Given the description of an element on the screen output the (x, y) to click on. 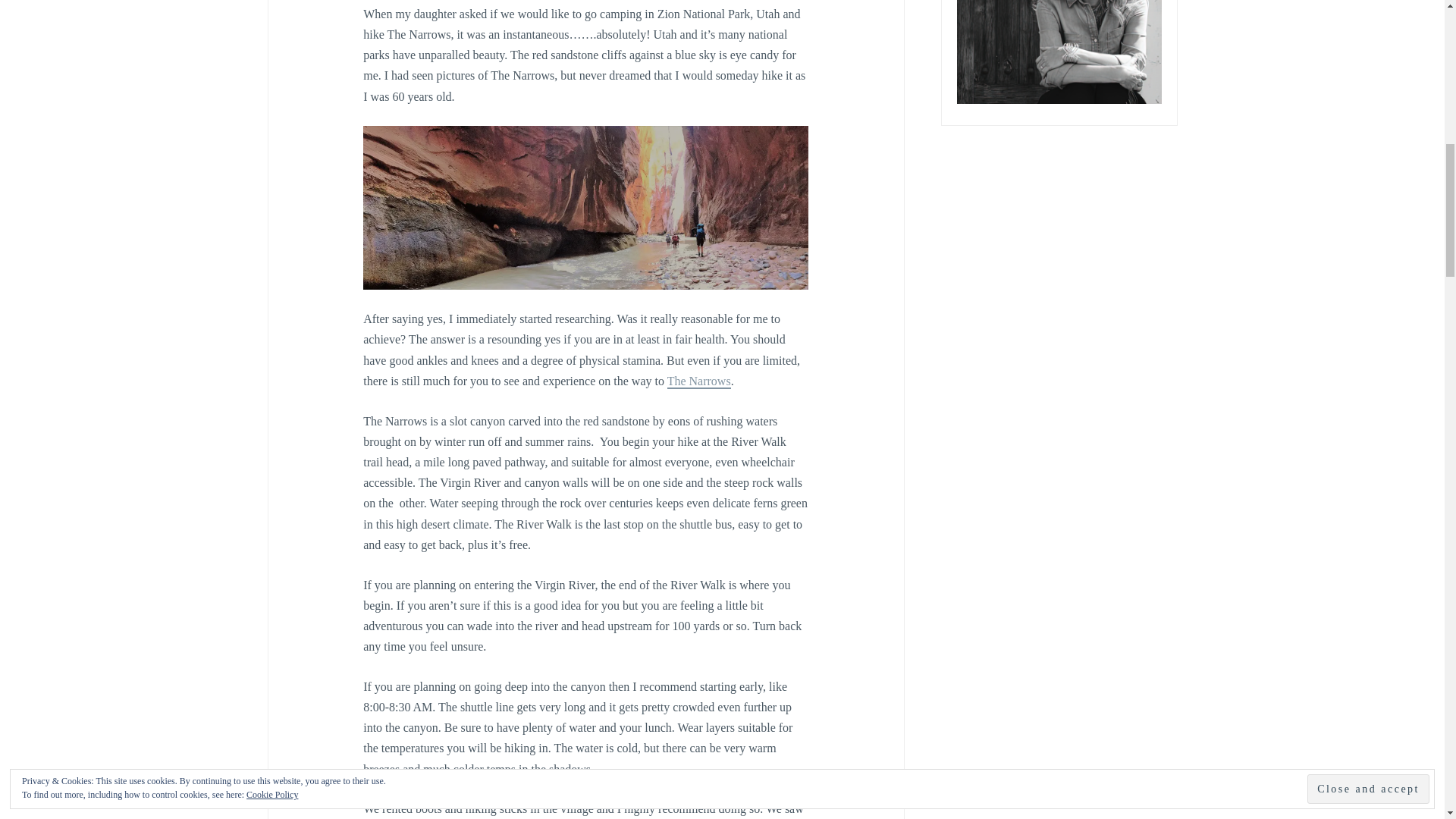
The Narrows (698, 381)
